Given the description of an element on the screen output the (x, y) to click on. 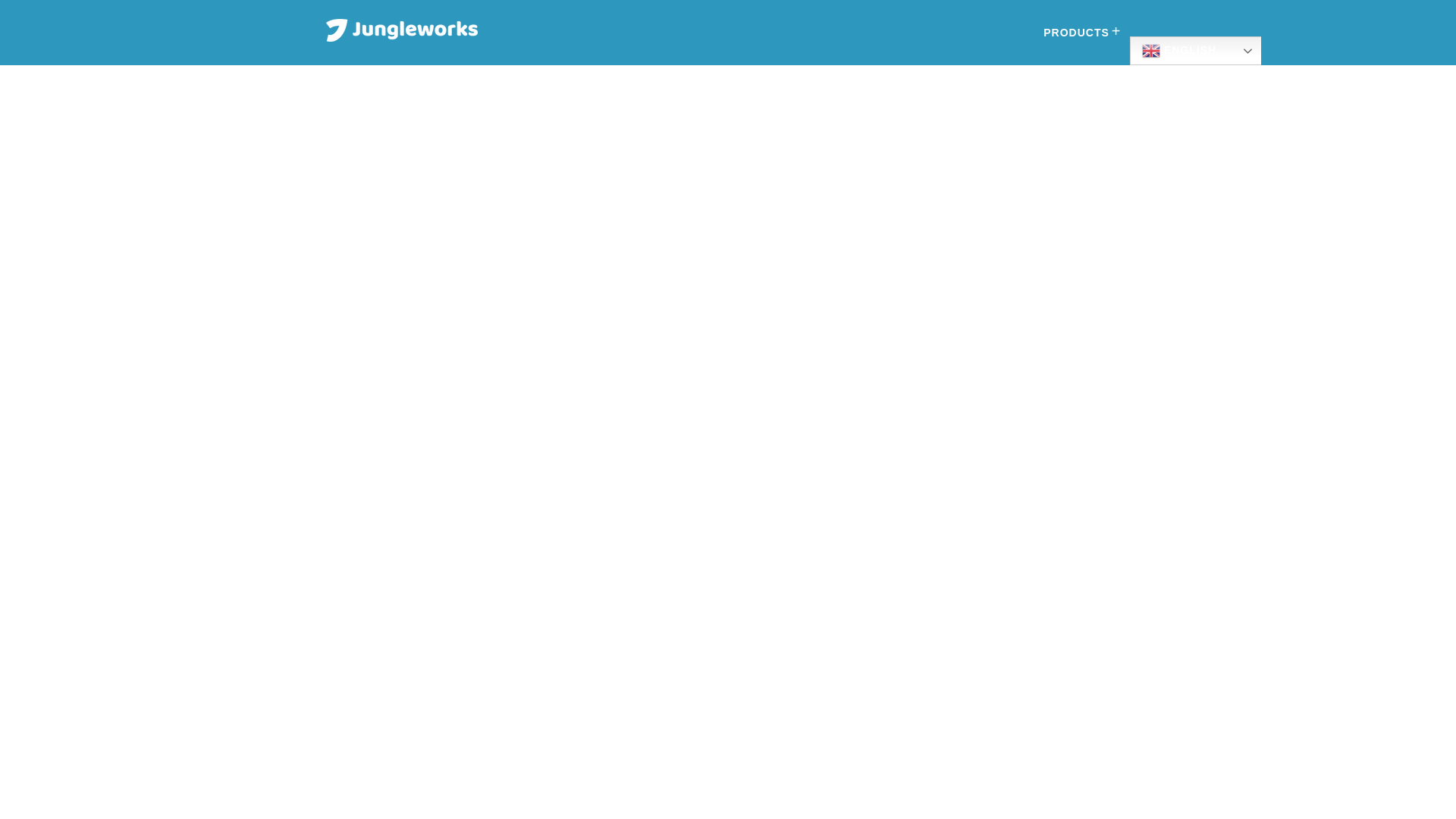
PRODUCTS (1078, 31)
Jungleworks Support (401, 29)
ENGLISH (1202, 50)
